Given the description of an element on the screen output the (x, y) to click on. 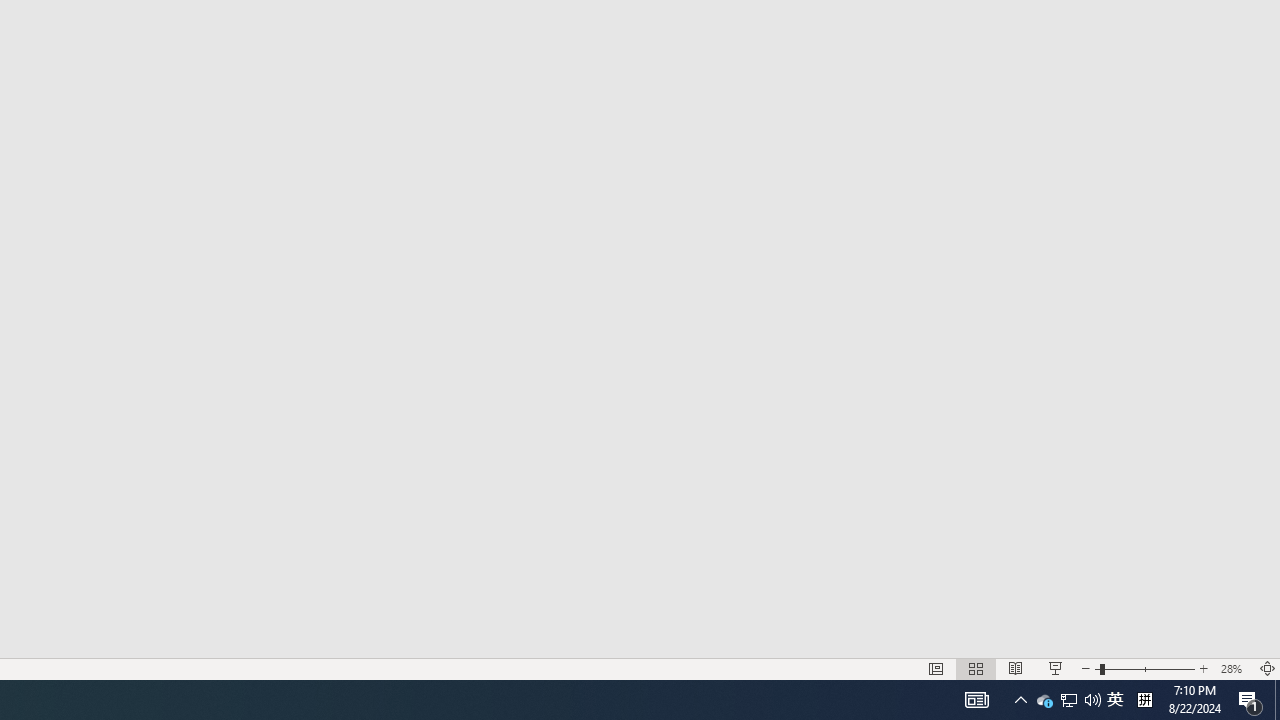
Zoom 28% (1234, 668)
